Given the description of an element on the screen output the (x, y) to click on. 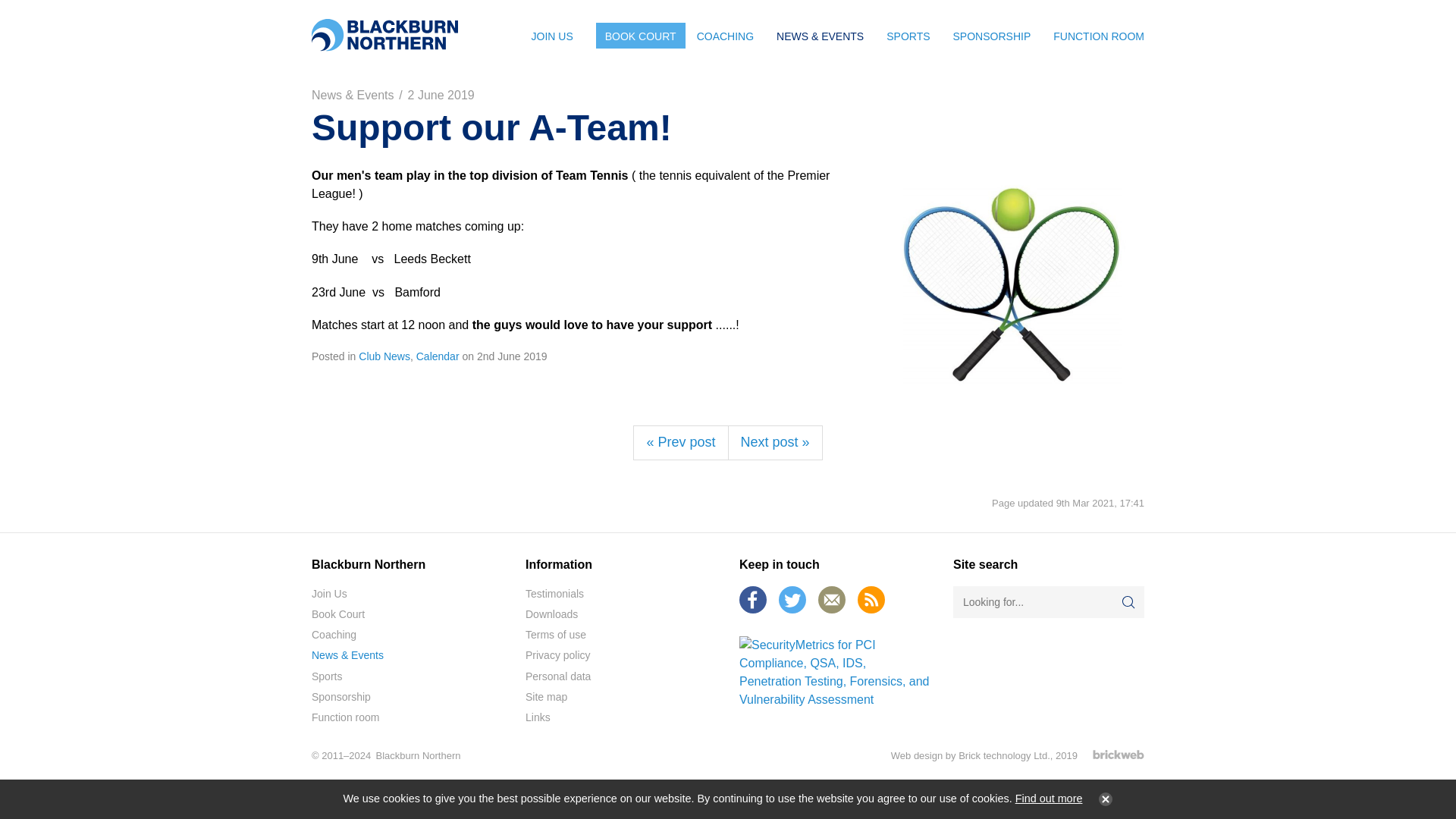
JOIN US (552, 35)
tennis-rackets-and-ball-at-120-canvas (1011, 284)
Blackburn Northern Sports Club Facebook (753, 599)
BOOK COURT (640, 35)
Blackburn Northern Sports Club Newsletter (831, 599)
Blackburn Northern Sports Club RSS (871, 599)
COACHING (725, 35)
Website designed and maintained by Brick technology Ltd. (1118, 754)
SPORTS (907, 35)
Blackburn Northern Sports Club Twitter (792, 599)
